Given the description of an element on the screen output the (x, y) to click on. 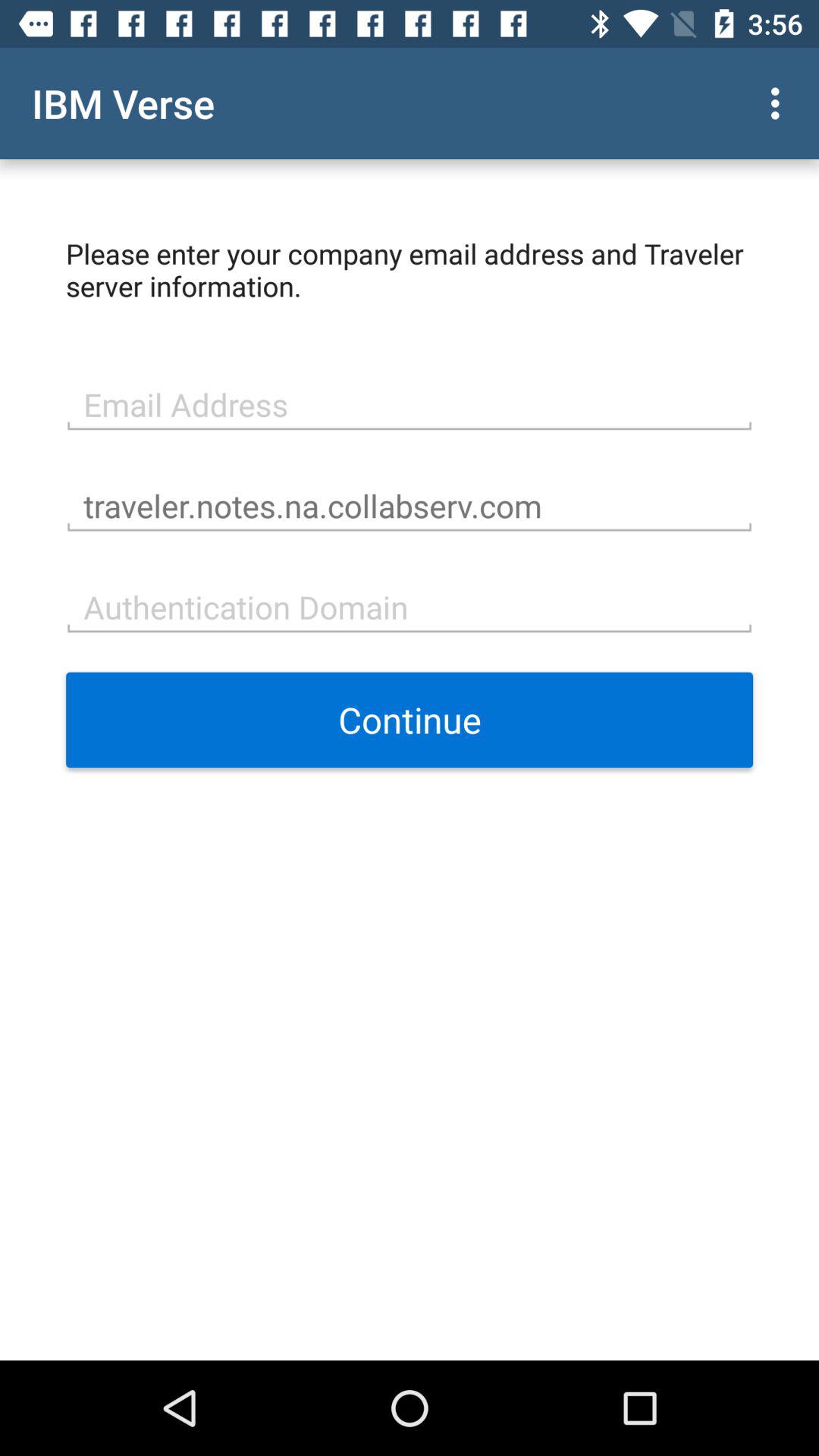
turn on icon at the top right corner (779, 103)
